Given the description of an element on the screen output the (x, y) to click on. 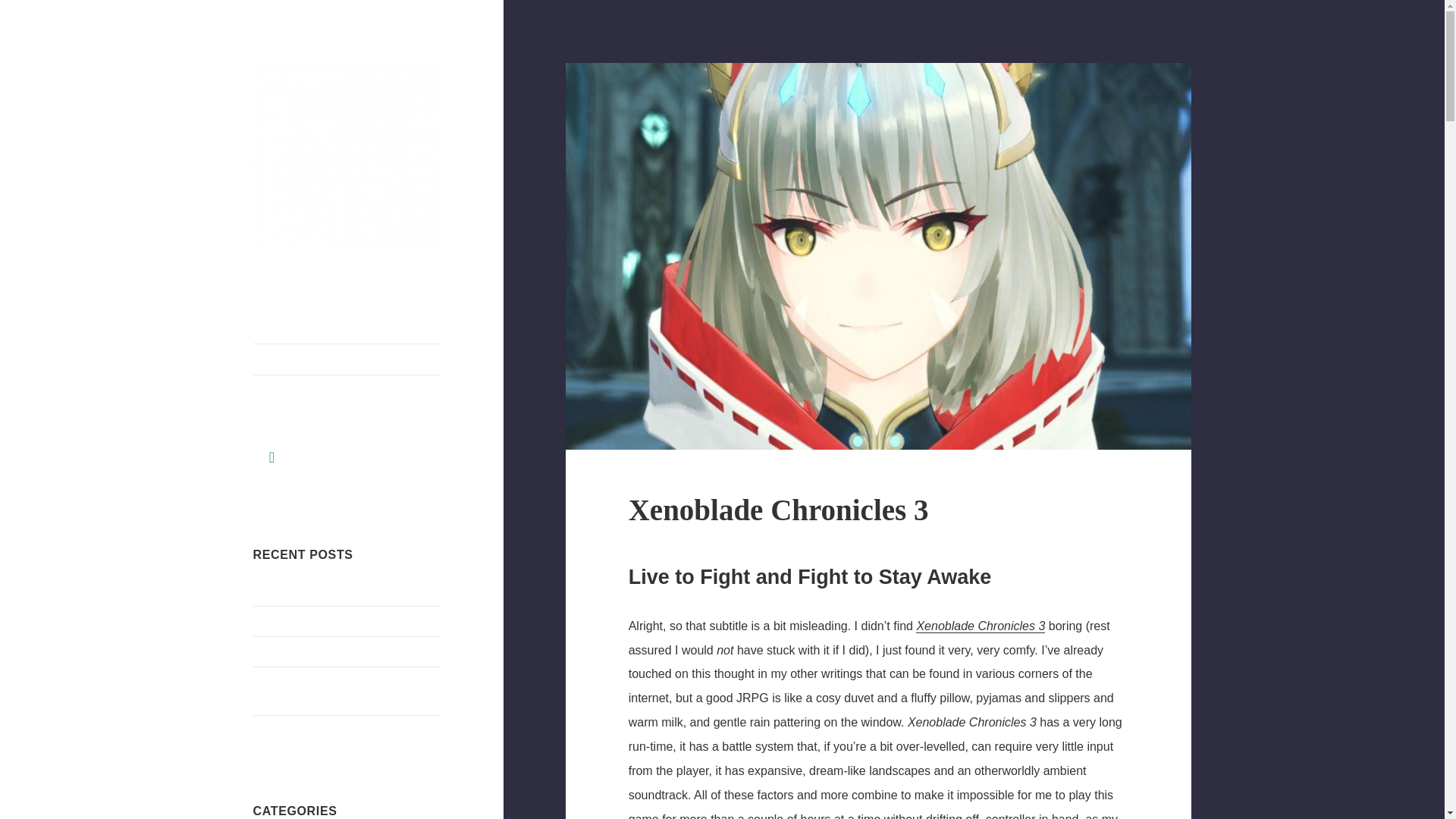
Terra Nil (275, 590)
Home (347, 358)
Video Game Covers (302, 651)
Into the Breach (291, 621)
